Given the description of an element on the screen output the (x, y) to click on. 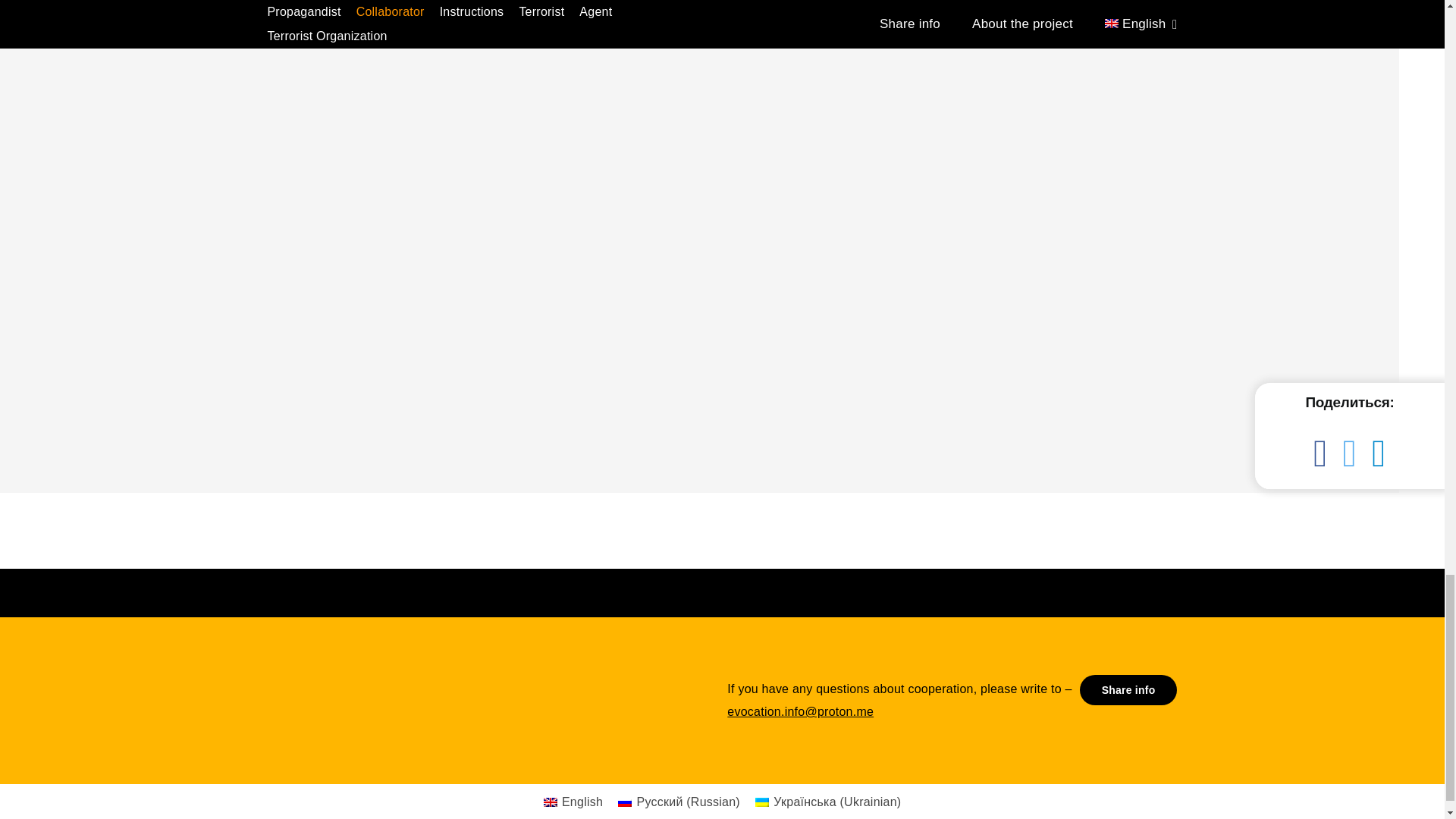
Share info (1128, 689)
